Given the description of an element on the screen output the (x, y) to click on. 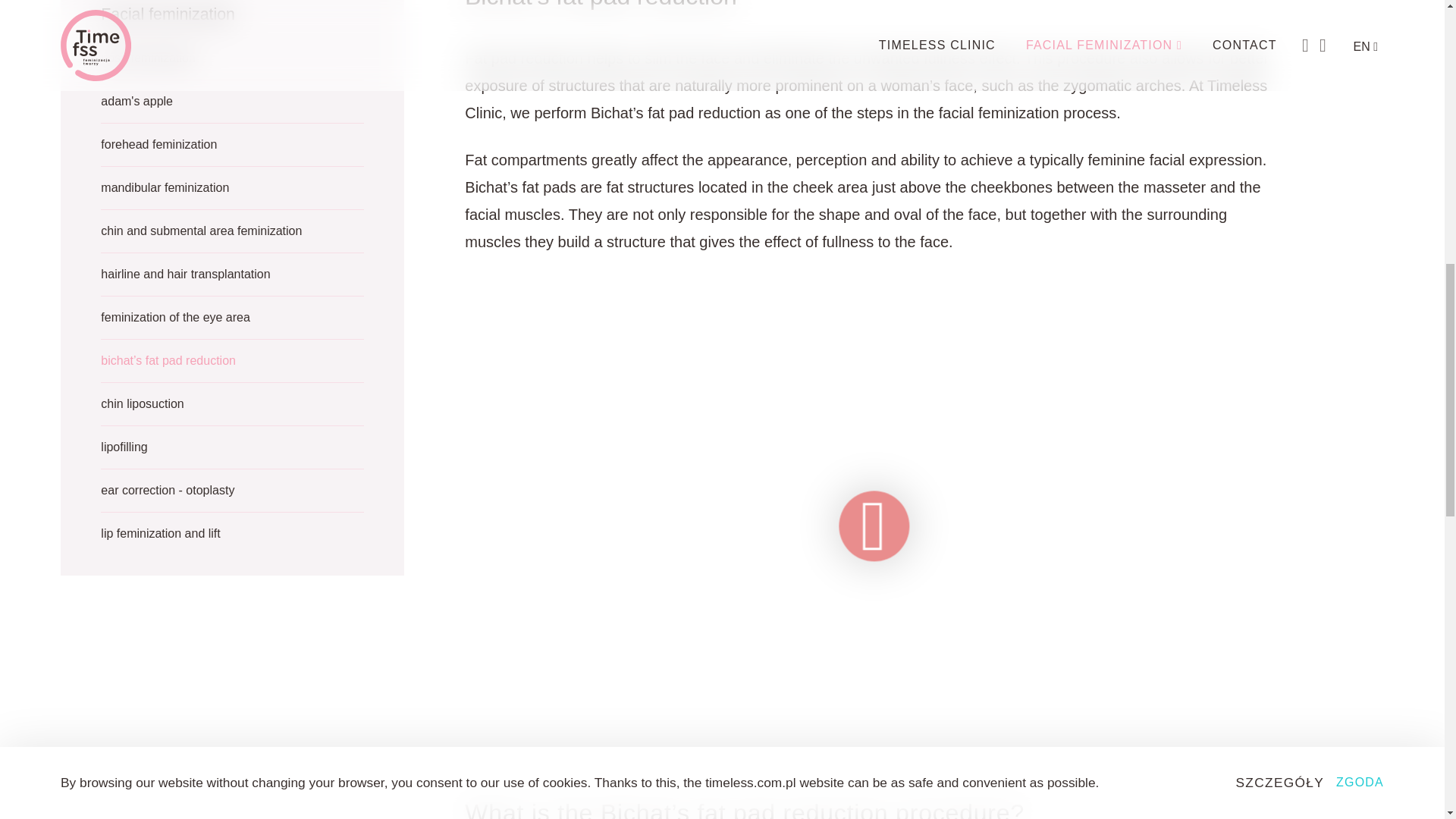
chin liposuction (232, 409)
mandibular feminization (232, 194)
nose feminization (232, 64)
lip feminization and lift (232, 539)
adam's apple (232, 107)
feminization of the eye area (232, 323)
hairline and hair transplantation (232, 280)
forehead feminization (232, 151)
lipofilling (232, 453)
ear correction - otoplasty (232, 496)
chin and submental area feminization (232, 237)
